Given the description of an element on the screen output the (x, y) to click on. 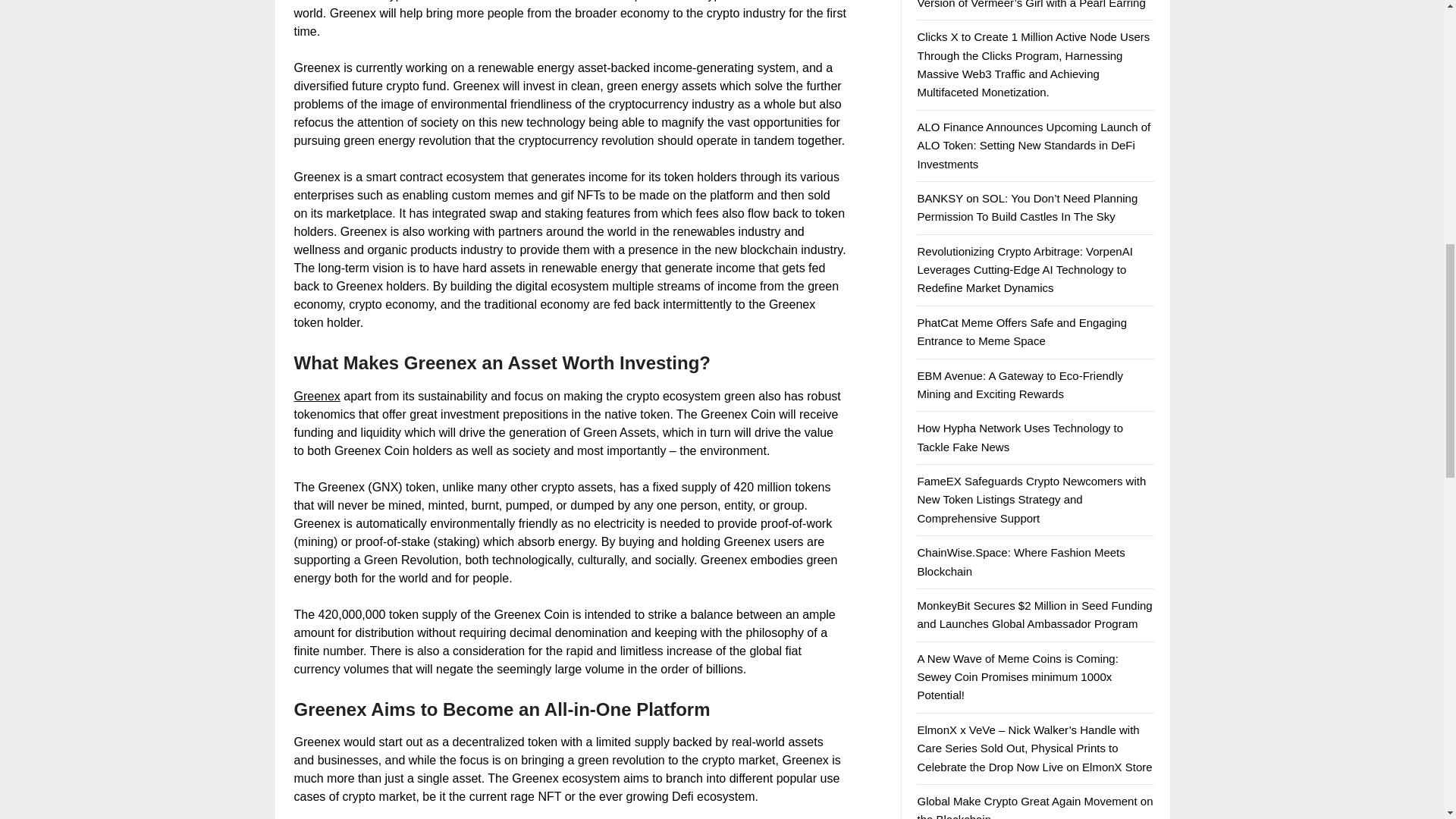
Greenex (317, 395)
PhatCat Meme Offers Safe and Engaging Entrance to Meme Space (1021, 331)
How Hypha Network Uses Technology to Tackle Fake News (1019, 436)
